Given the description of an element on the screen output the (x, y) to click on. 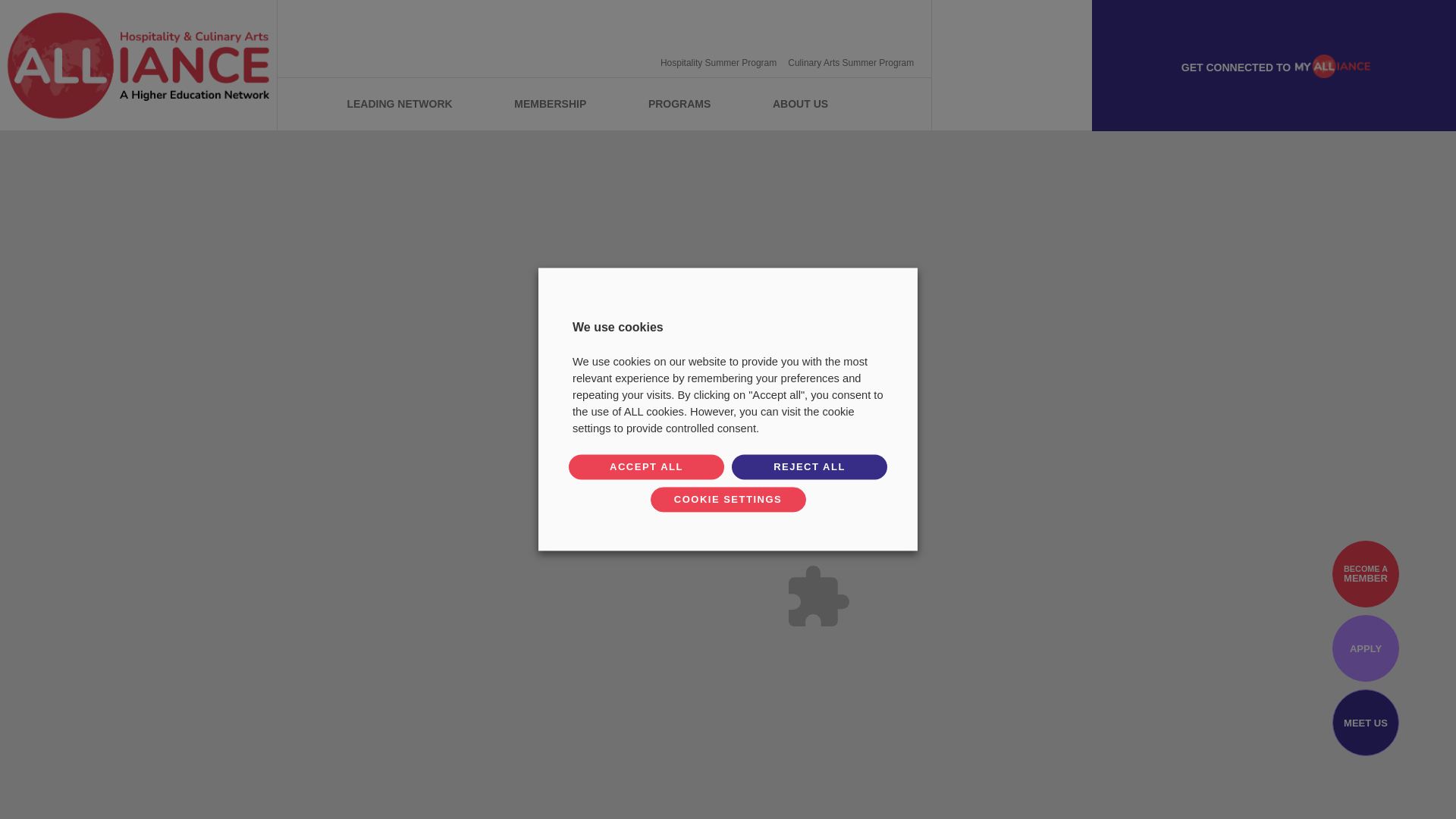
LEADING NETWORK (398, 103)
PROGRAMS (678, 103)
GET CONNECTED TO (1273, 65)
Culinary Arts Summer Program (851, 62)
Get connected to My Alliance (1273, 65)
ABOUT US (800, 103)
Hospitality Summer Program (717, 62)
MEMBERSHIP (549, 103)
